Given the description of an element on the screen output the (x, y) to click on. 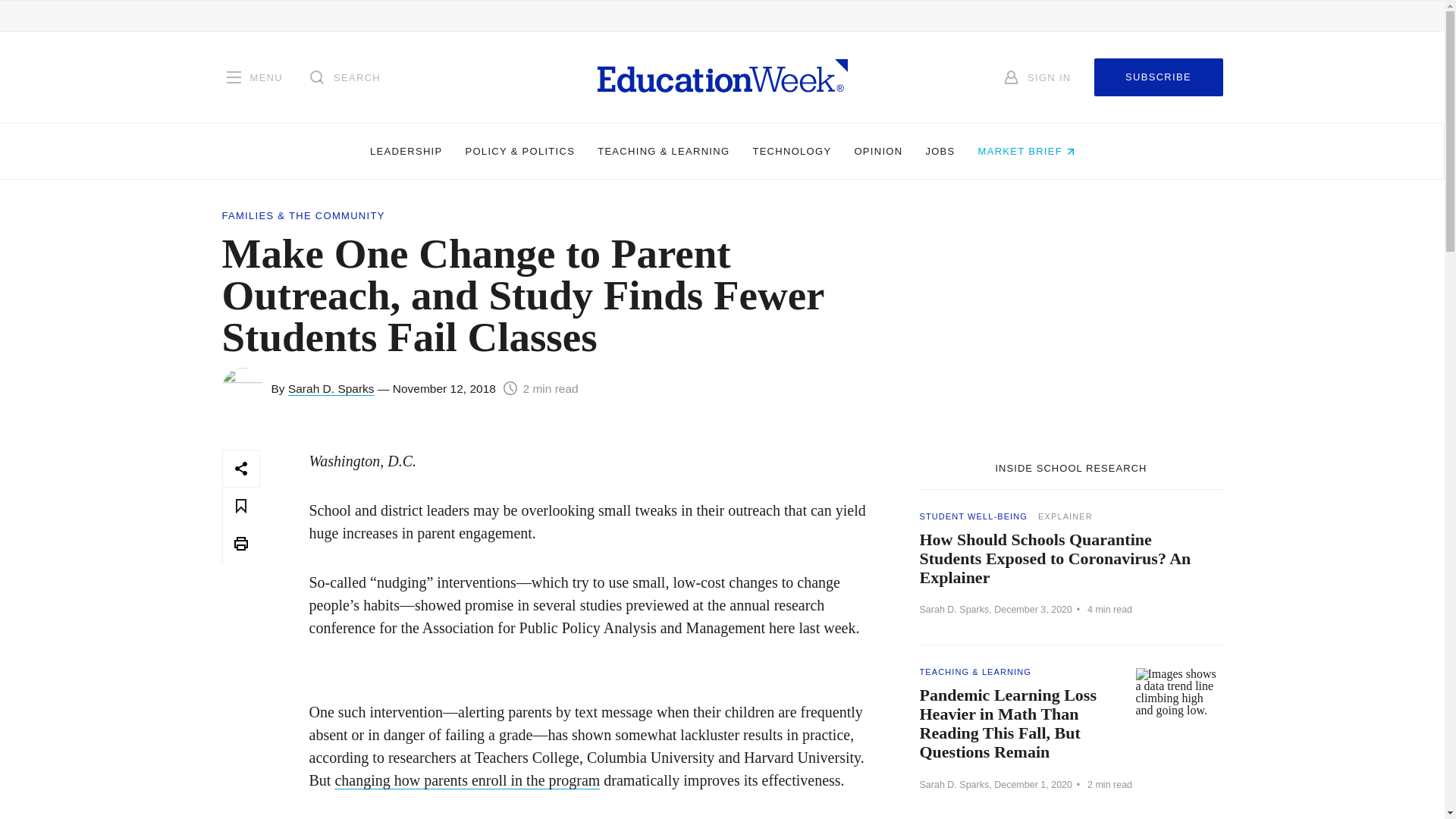
Homepage (721, 76)
